Given the description of an element on the screen output the (x, y) to click on. 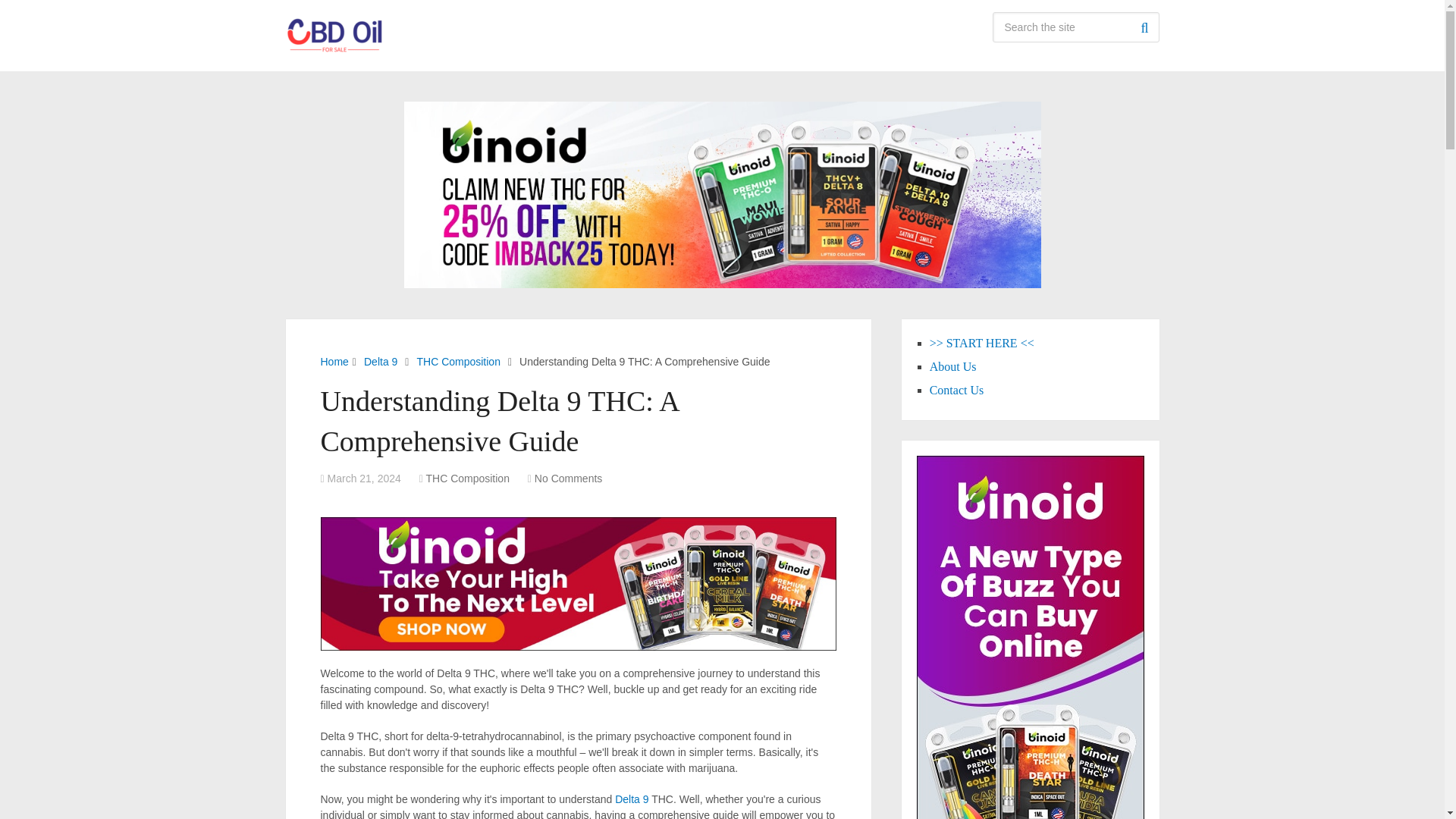
Home (333, 361)
THC Composition (457, 361)
Delta 9 (380, 361)
THC Composition (466, 478)
Contact Us (957, 390)
About Us (953, 366)
View all posts in THC Composition (466, 478)
Search (1143, 27)
Delta 9 (630, 799)
No Comments (568, 478)
Delta 9 (630, 799)
